Given the description of an element on the screen output the (x, y) to click on. 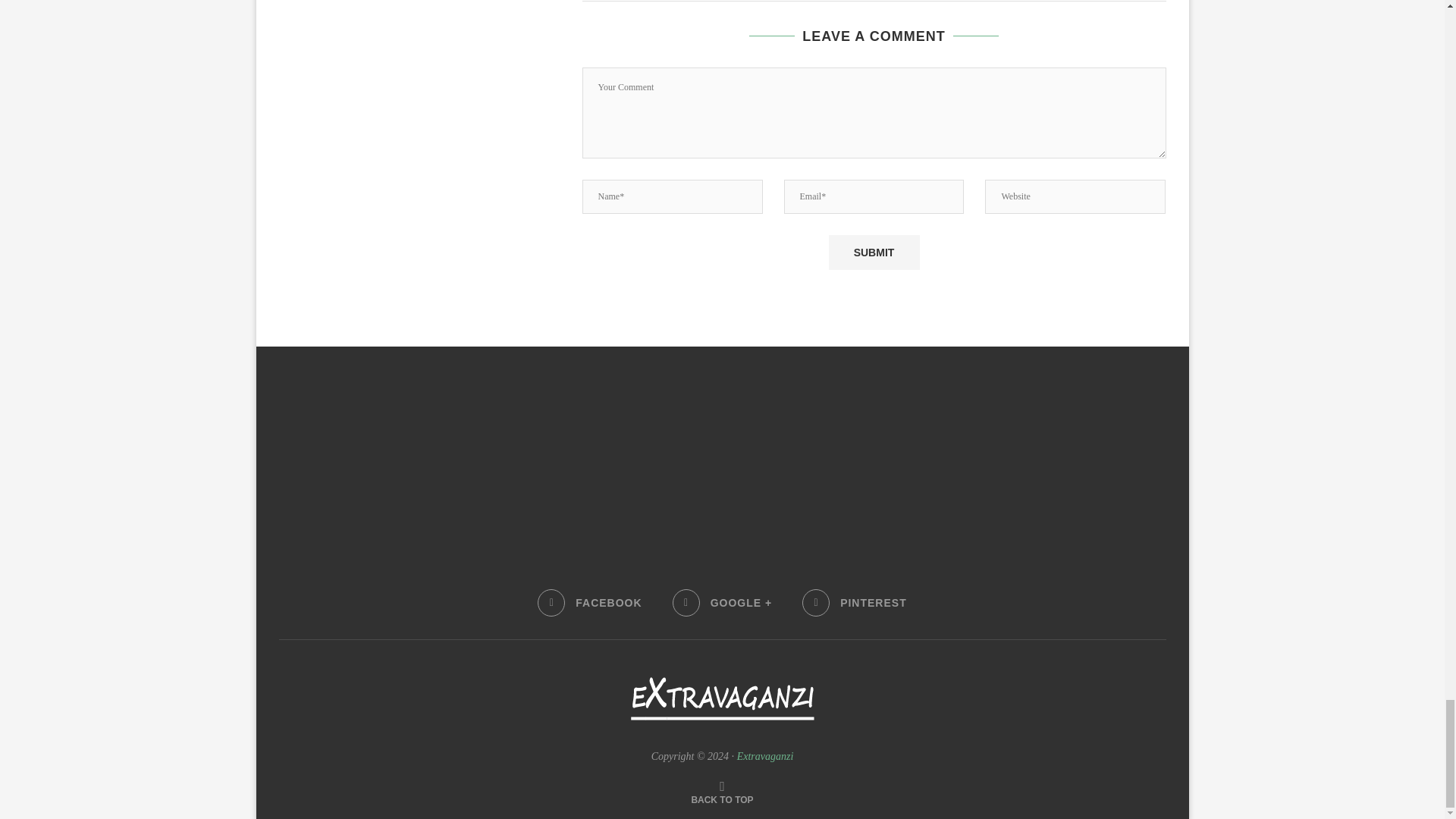
Submit (873, 252)
